Given the description of an element on the screen output the (x, y) to click on. 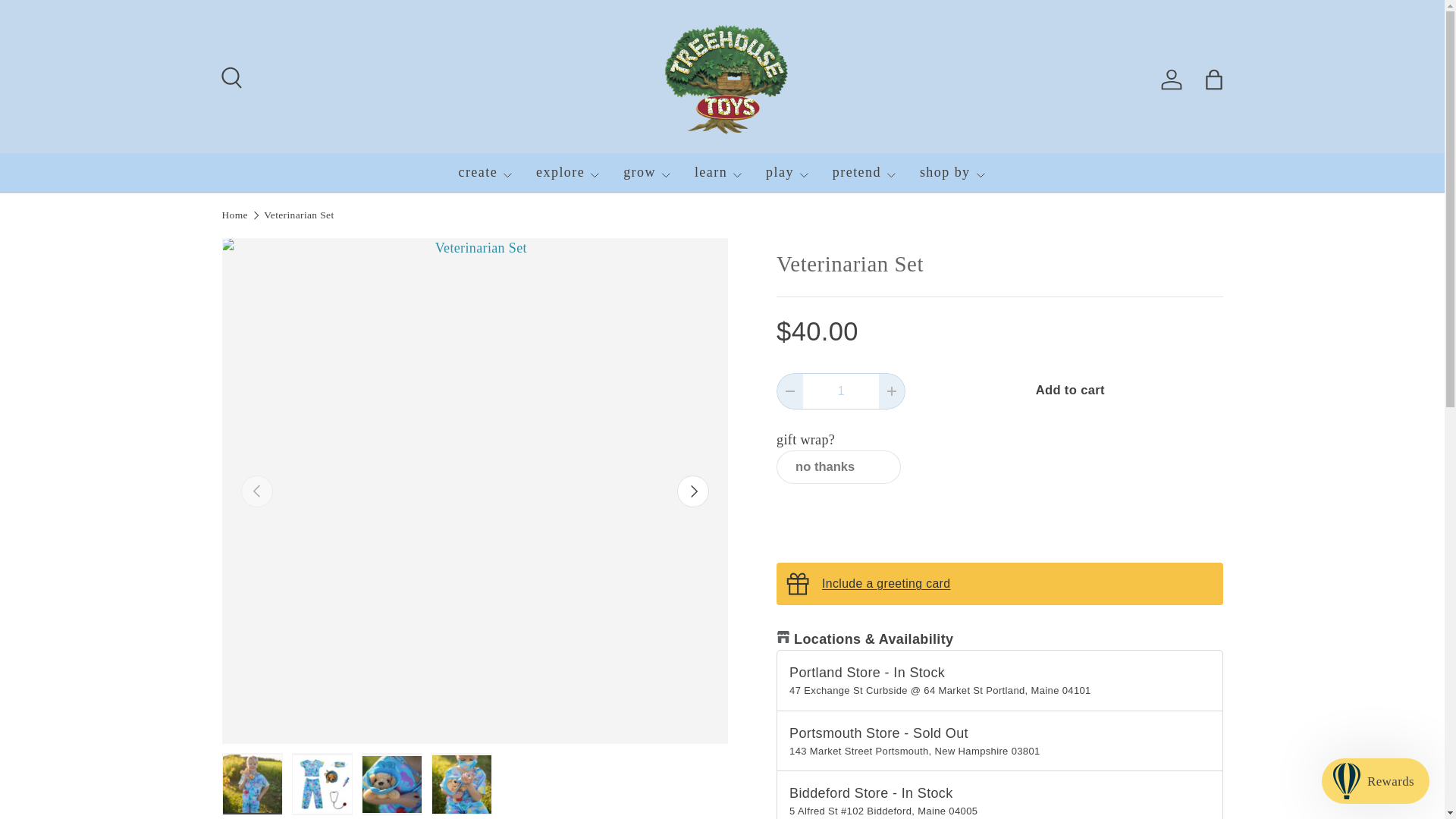
Log in (1171, 79)
greeting cards (886, 583)
Search (229, 75)
create (485, 172)
Bag (1213, 79)
Skip to content (64, 21)
1 (841, 391)
